Given the description of an element on the screen output the (x, y) to click on. 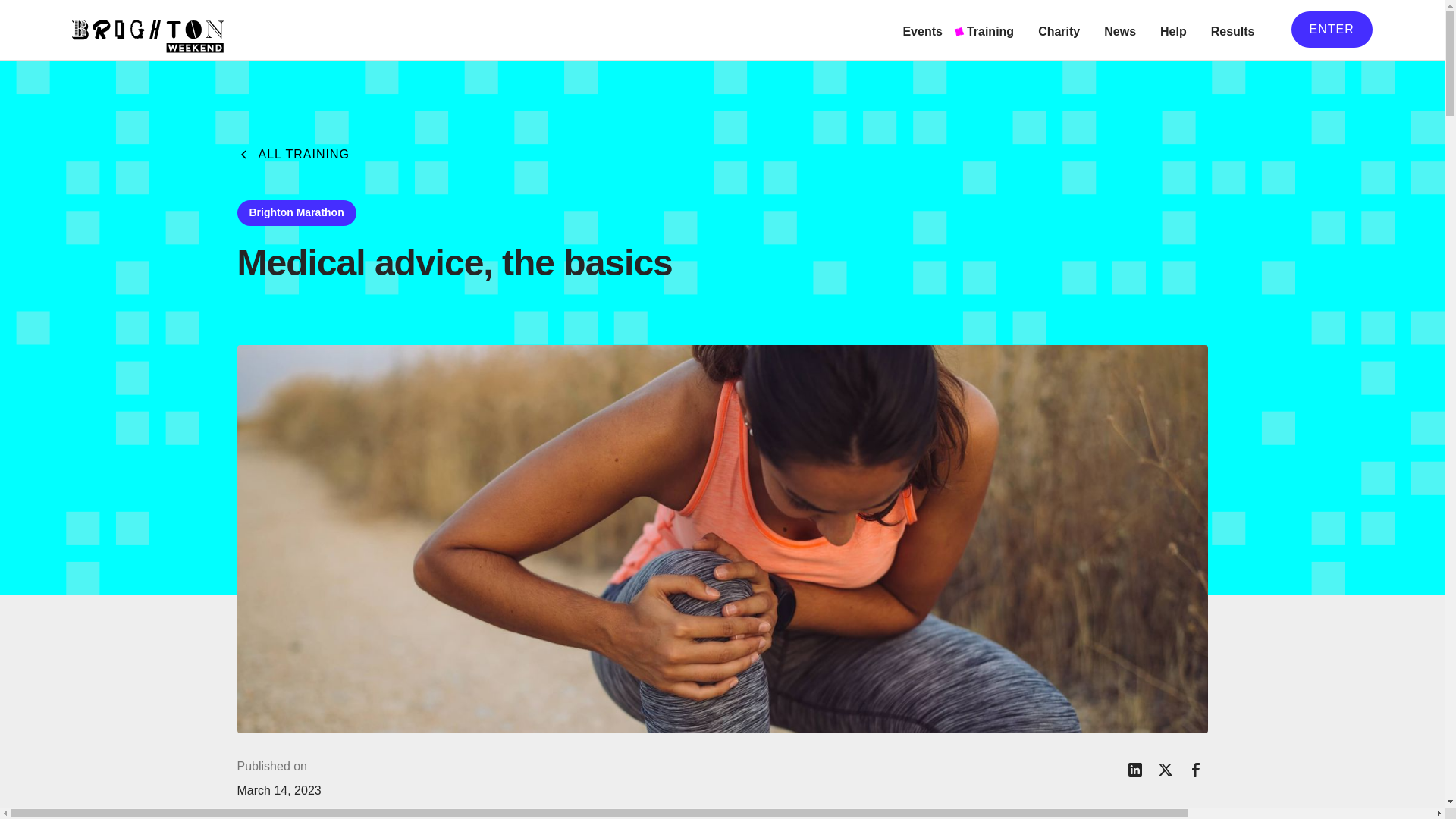
Help (1173, 29)
Events (922, 29)
Training (989, 29)
Charity (1059, 29)
Brighton Marathon (295, 212)
ENTER (1332, 29)
Results (1233, 29)
News (1119, 29)
ALL TRAINING (292, 154)
